Given the description of an element on the screen output the (x, y) to click on. 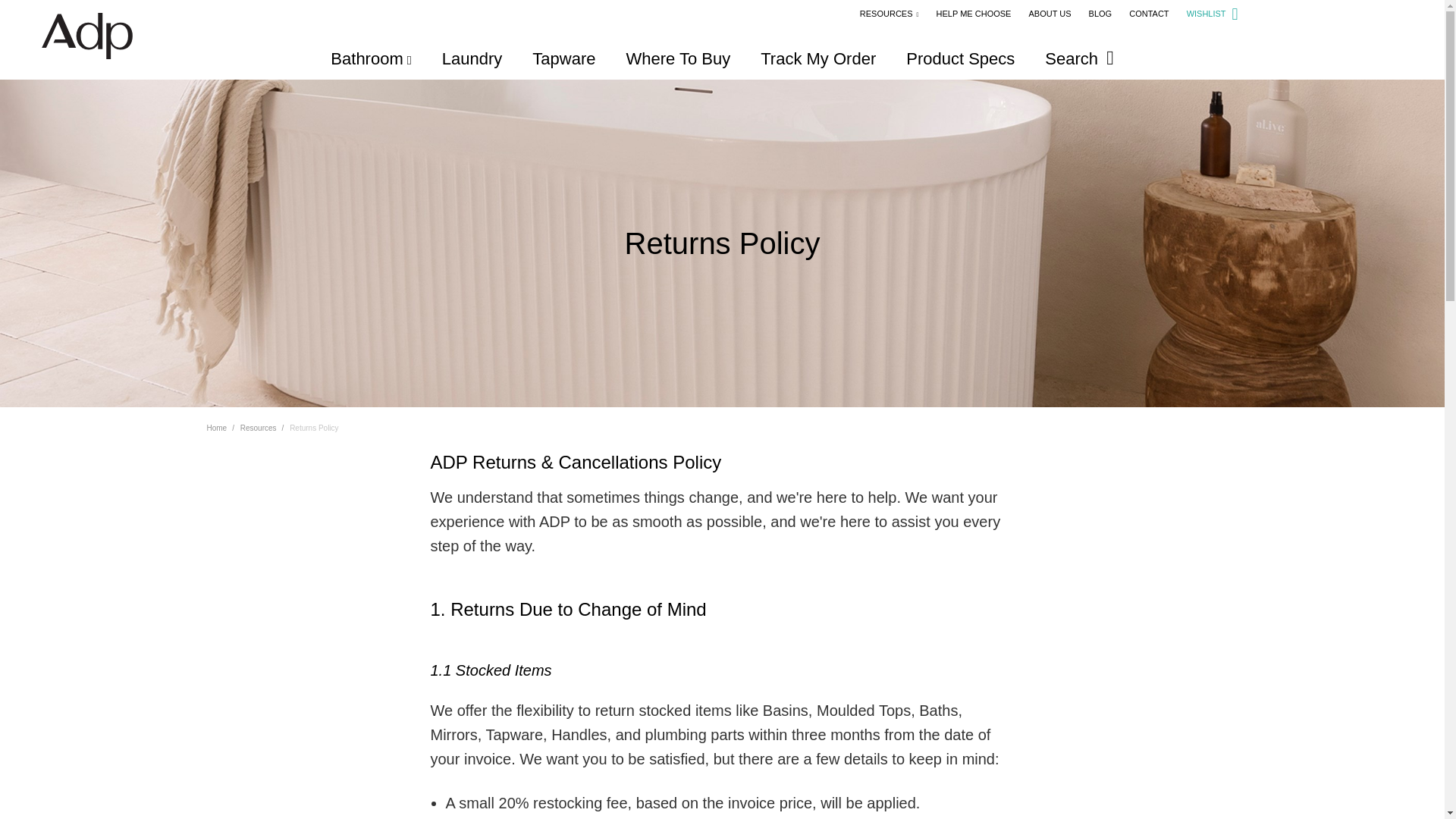
Tapware (563, 58)
Bathroom (370, 58)
Search (1079, 58)
ABOUT US (1048, 13)
BLOG (1100, 13)
Where To Buy (678, 58)
WISHLIST (1212, 13)
Product Specs (959, 58)
RESOURCES (889, 13)
Laundry (472, 58)
